Given the description of an element on the screen output the (x, y) to click on. 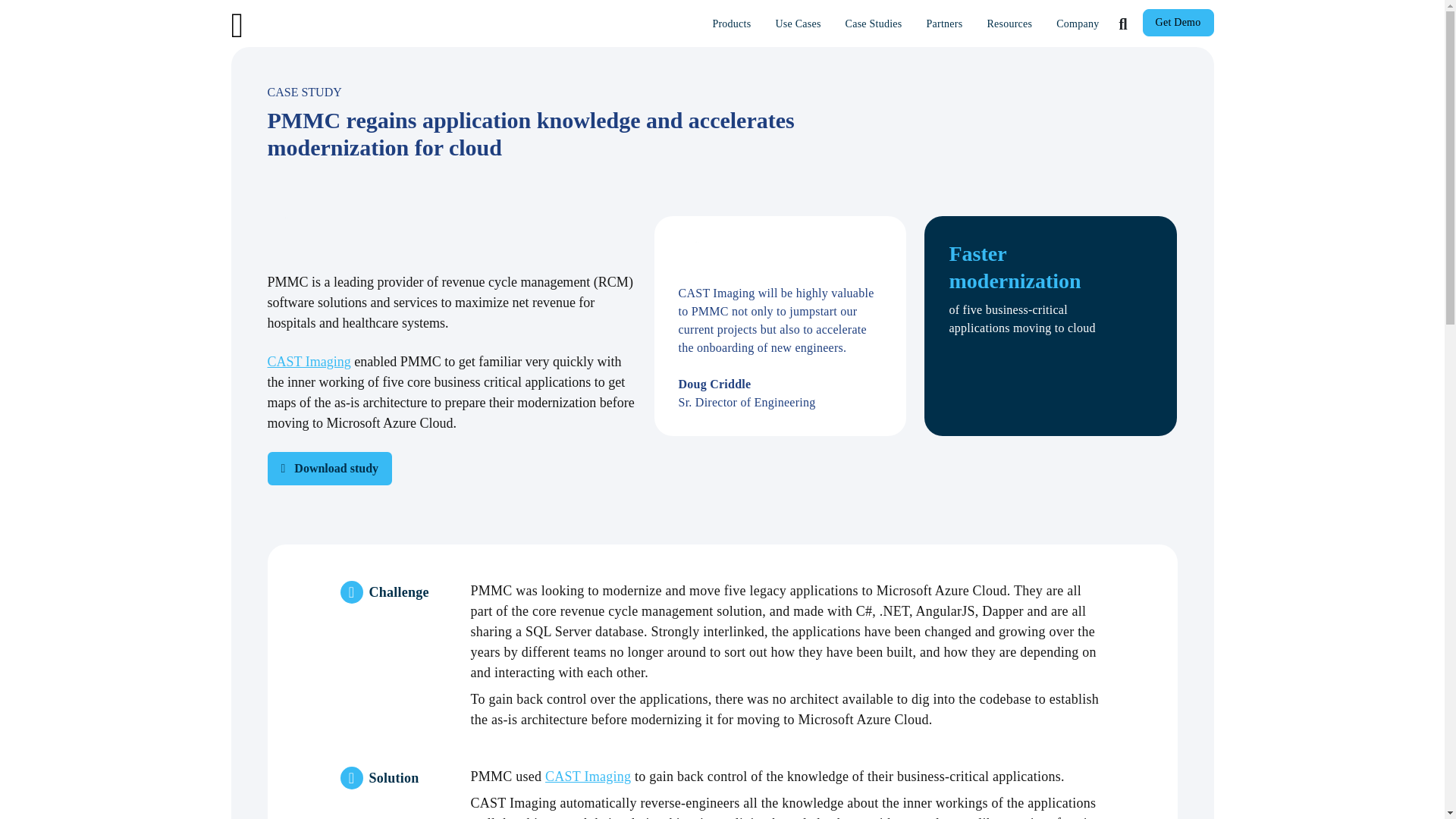
PMMC (711, 259)
Resources (1008, 22)
Case Studies (873, 22)
PMMC (300, 234)
Partners (944, 22)
Products (731, 22)
Use Cases (797, 22)
Company (1077, 22)
